Given the description of an element on the screen output the (x, y) to click on. 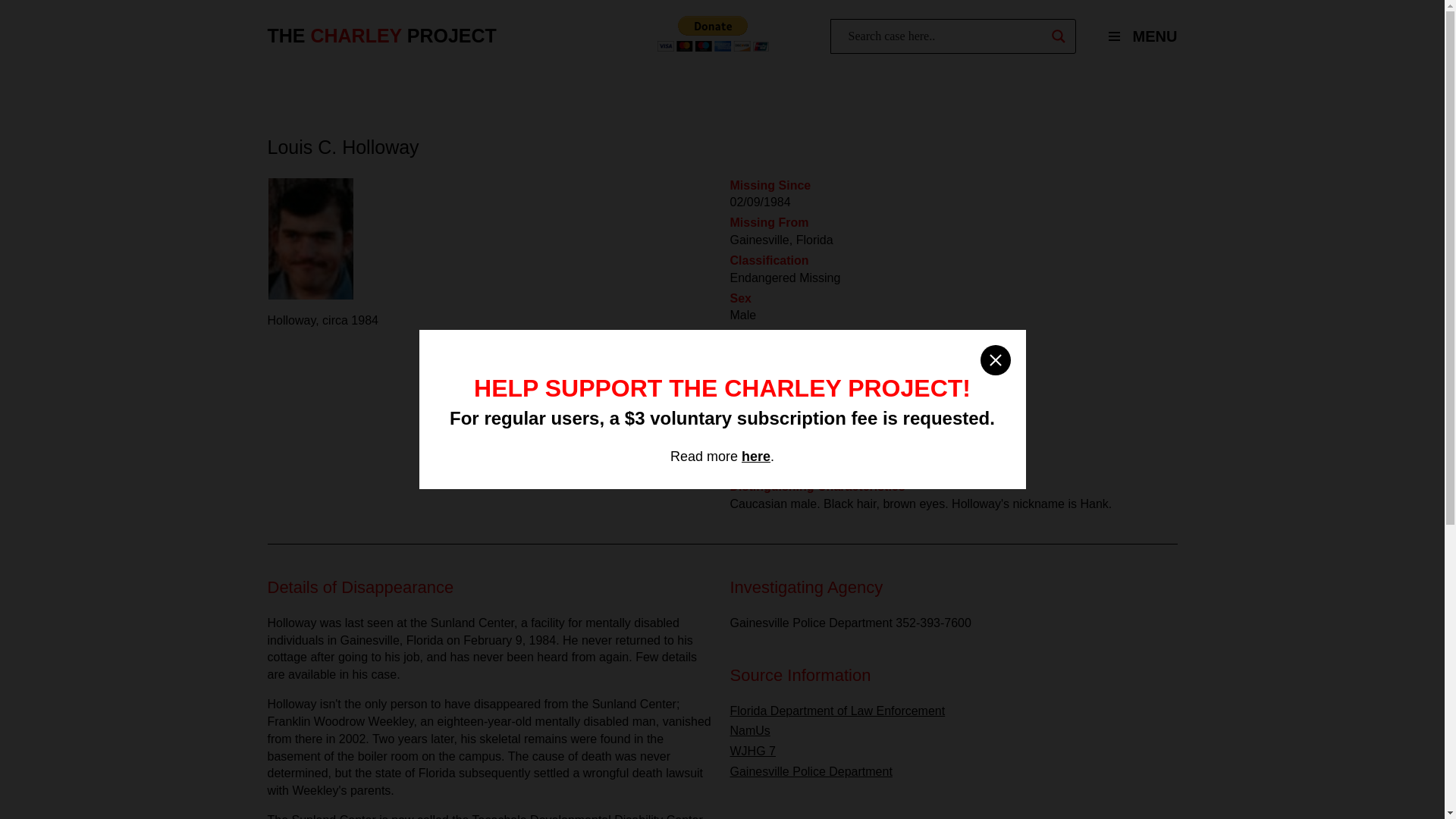
Gainesville Police Department (810, 771)
MENU (1135, 36)
Florida Department of Law Enforcement (836, 710)
WJHG 7 (751, 750)
NamUs (749, 730)
THE CHARLEY PROJECT (381, 35)
